Given the description of an element on the screen output the (x, y) to click on. 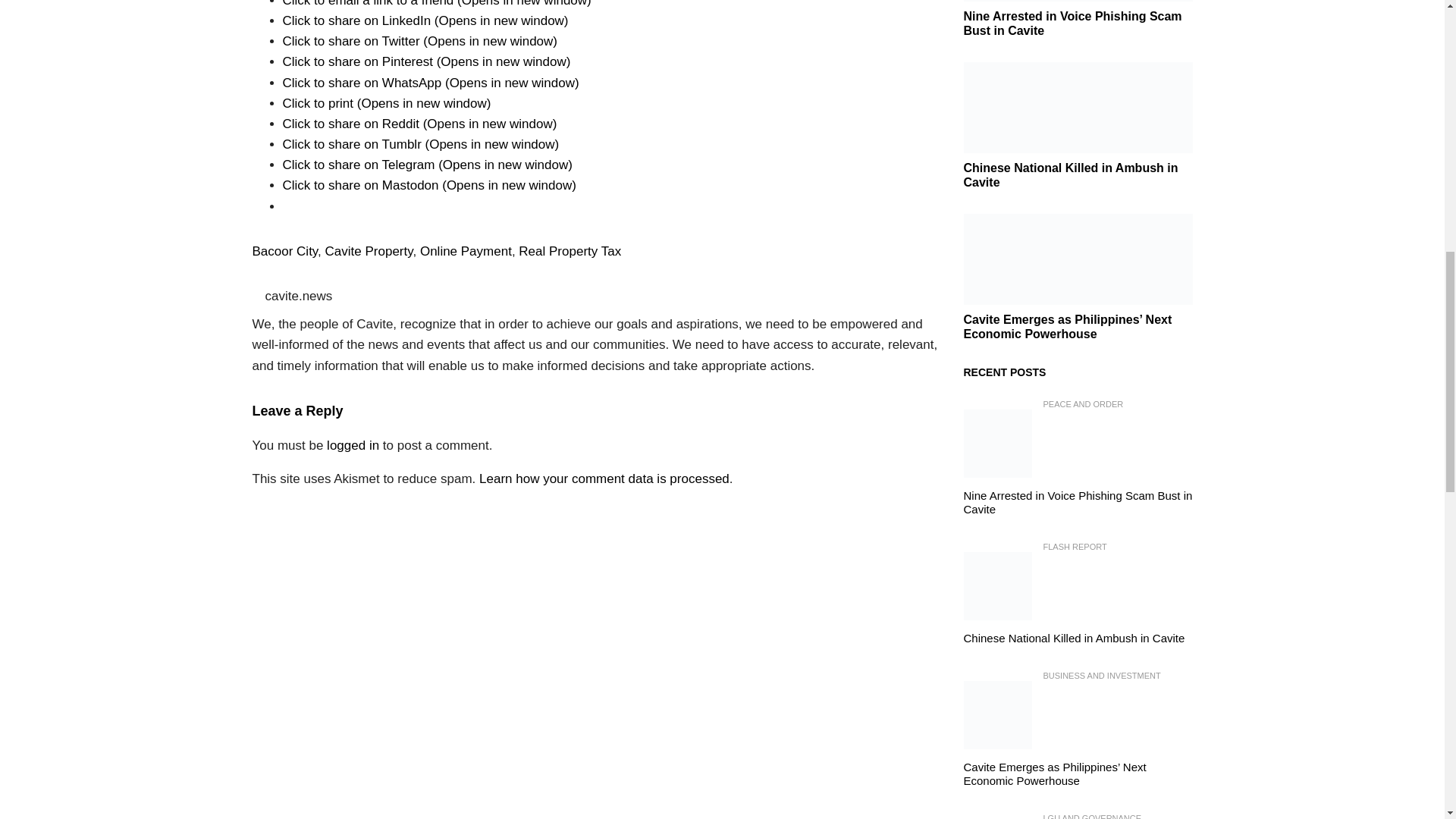
Click to share on Twitter (419, 41)
Learn how your comment data is processed (604, 478)
Click to print (386, 103)
Bacoor City (284, 251)
Click to share on LinkedIn (424, 20)
Click to share on Reddit (419, 124)
Click to share on Mastodon (428, 185)
Real Property Tax (569, 251)
Cavite Property (368, 251)
Click to email a link to a friend (436, 3)
Click to share on WhatsApp (430, 83)
Online Payment (466, 251)
Click to share on Tumblr (420, 144)
Click to share on Telegram (427, 164)
Click to share on Pinterest (426, 61)
